Given the description of an element on the screen output the (x, y) to click on. 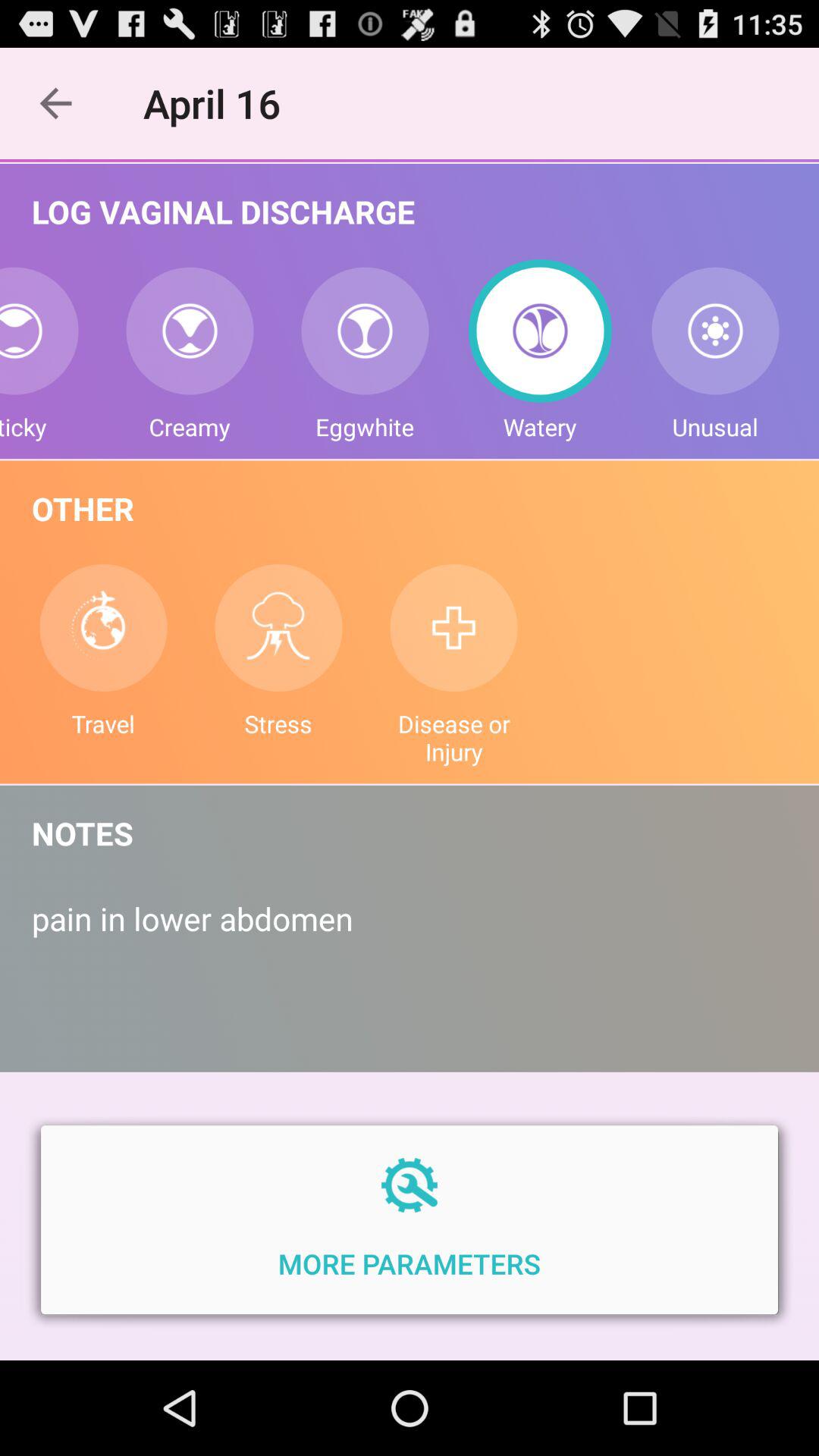
open the icon above log vaginal discharge (219, 103)
